Given the description of an element on the screen output the (x, y) to click on. 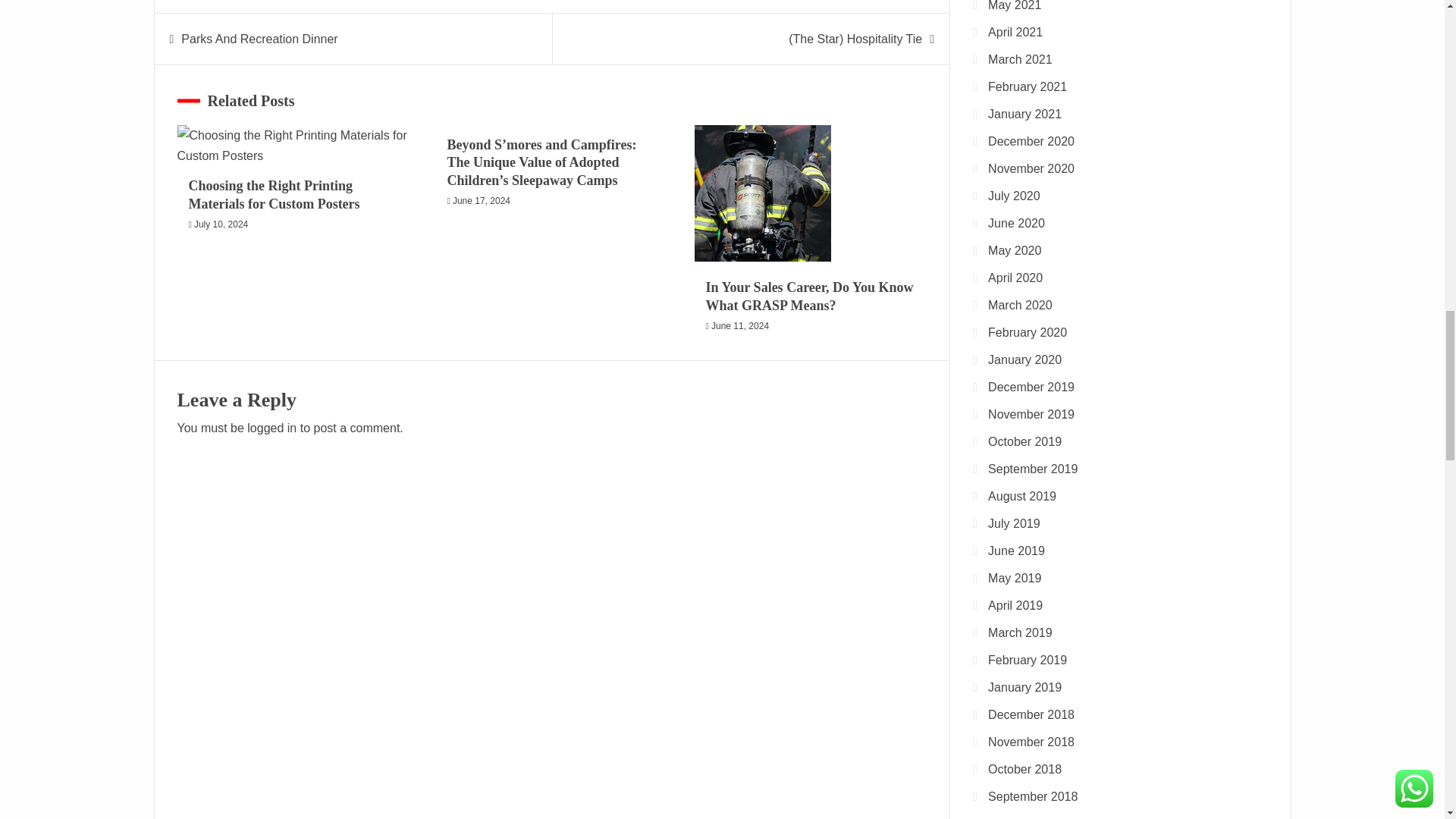
June 11, 2024 (739, 326)
July 10, 2024 (220, 224)
June 17, 2024 (481, 200)
Choosing the Right Printing Materials for Custom Posters (293, 145)
Choosing the Right Printing Materials for Custom Posters (273, 194)
Parks And Recreation Dinner (258, 38)
In Your Sales Career, Do You Know What GRASP Means? (762, 193)
In Your Sales Career, Do You Know What GRASP Means? (810, 296)
